Given the description of an element on the screen output the (x, y) to click on. 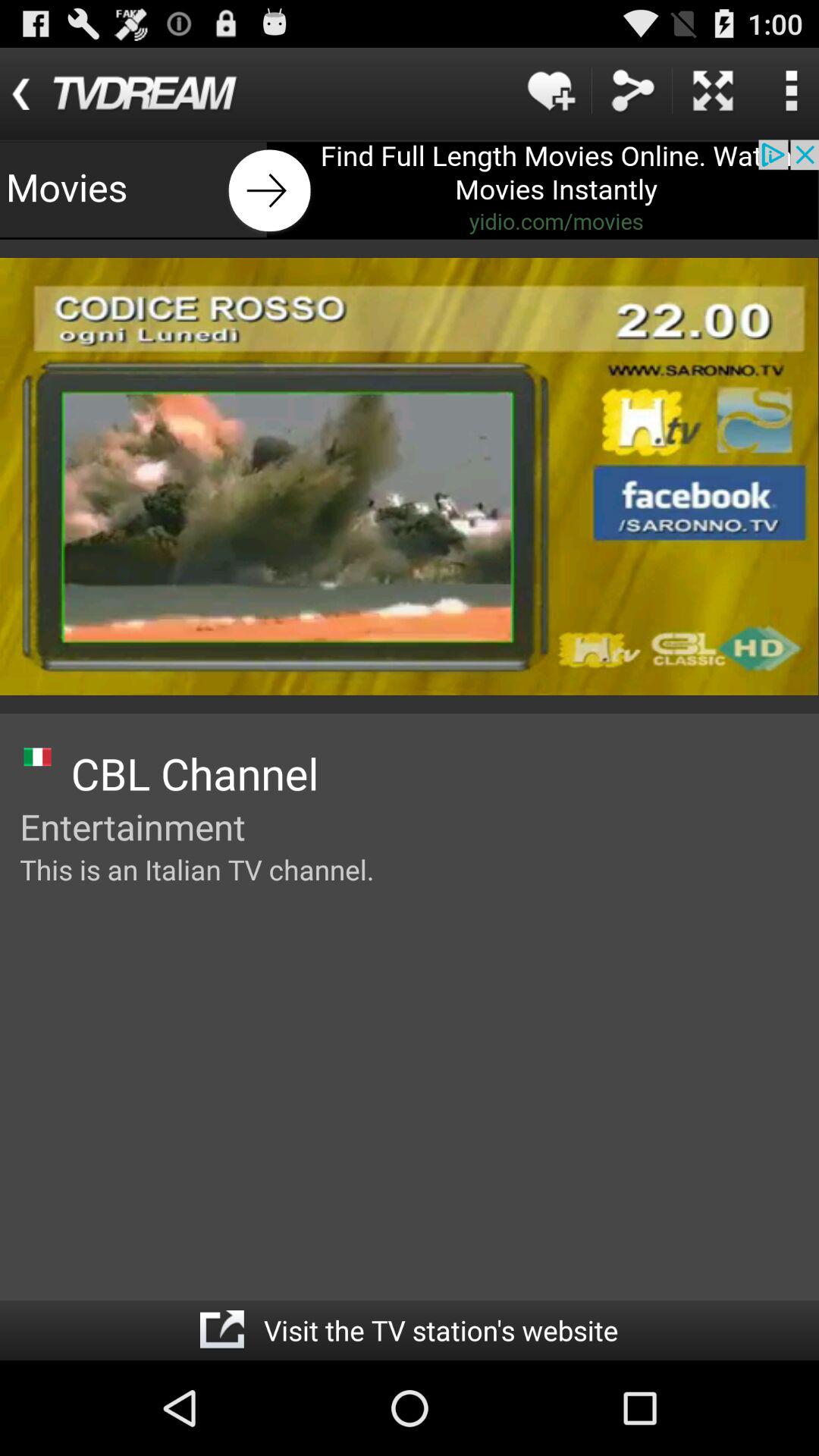
full screen the video (712, 90)
